Given the description of an element on the screen output the (x, y) to click on. 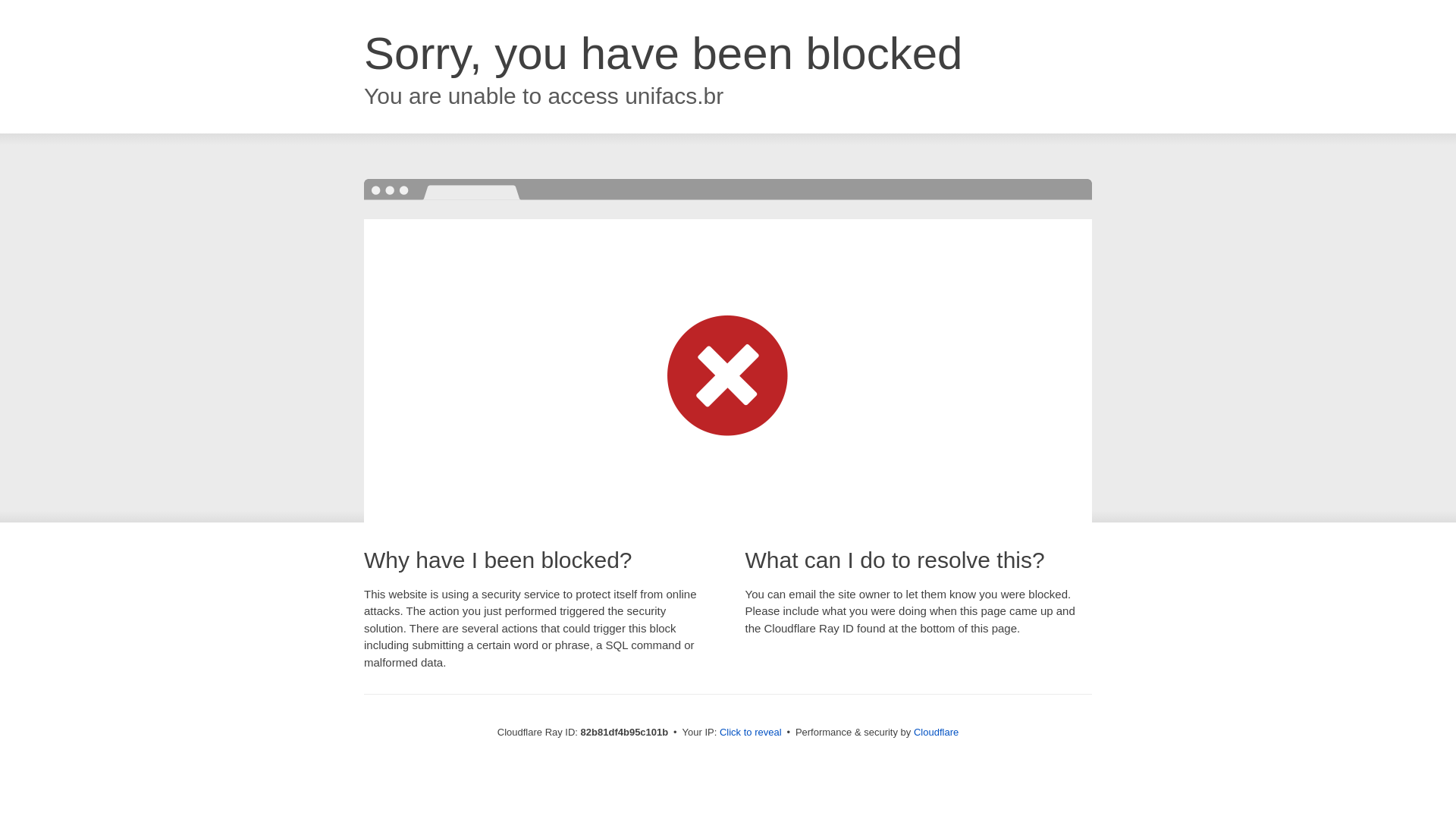
Cloudflare Element type: text (935, 731)
Click to reveal Element type: text (750, 732)
